Given the description of an element on the screen output the (x, y) to click on. 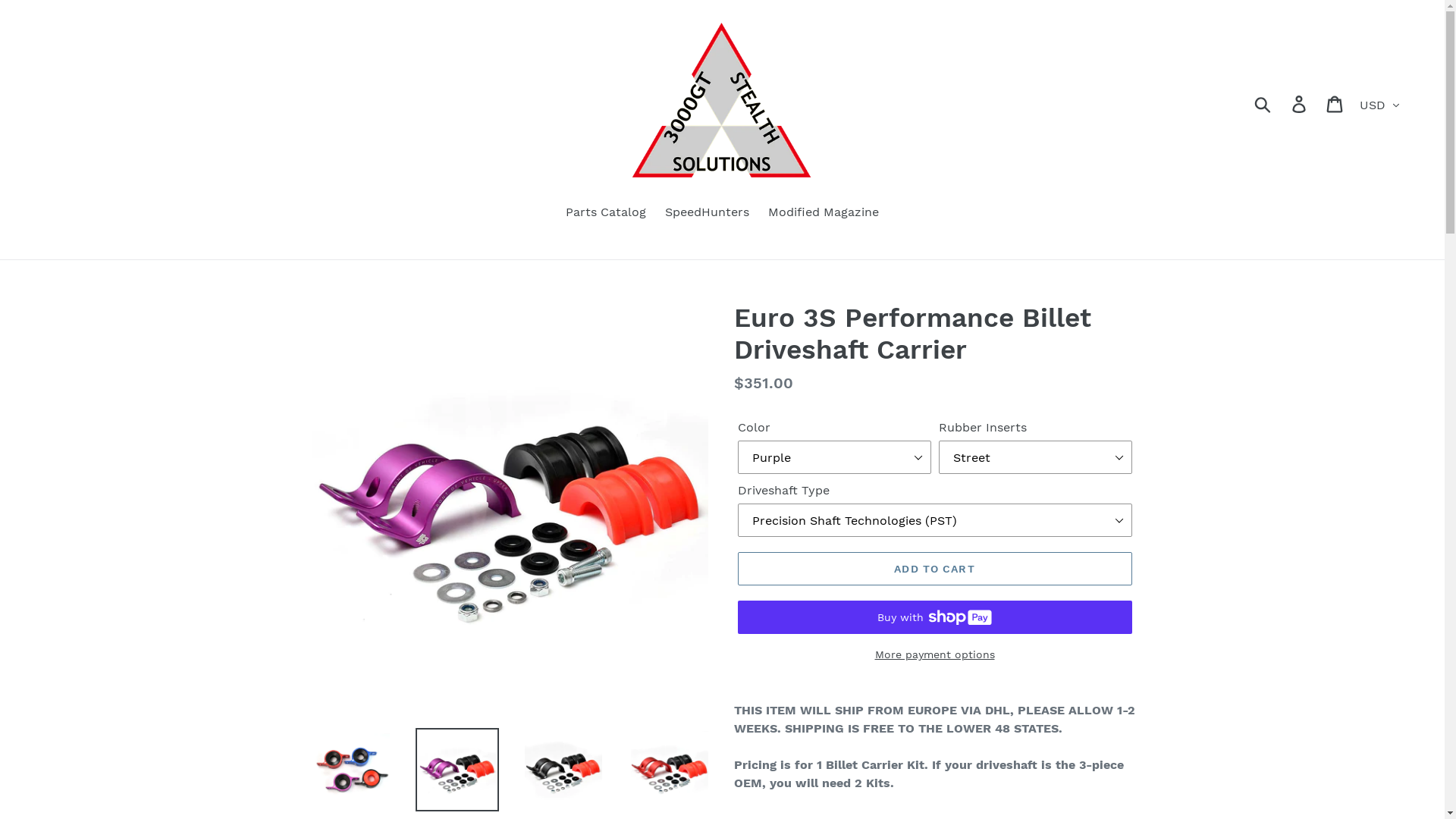
Modified Magazine Element type: text (823, 213)
Cart Element type: text (1335, 103)
ADD TO CART Element type: text (934, 568)
SpeedHunters Element type: text (706, 213)
Parts Catalog Element type: text (605, 213)
Submit Element type: text (1263, 103)
Log in Element type: text (1299, 103)
More payment options Element type: text (934, 654)
